Given the description of an element on the screen output the (x, y) to click on. 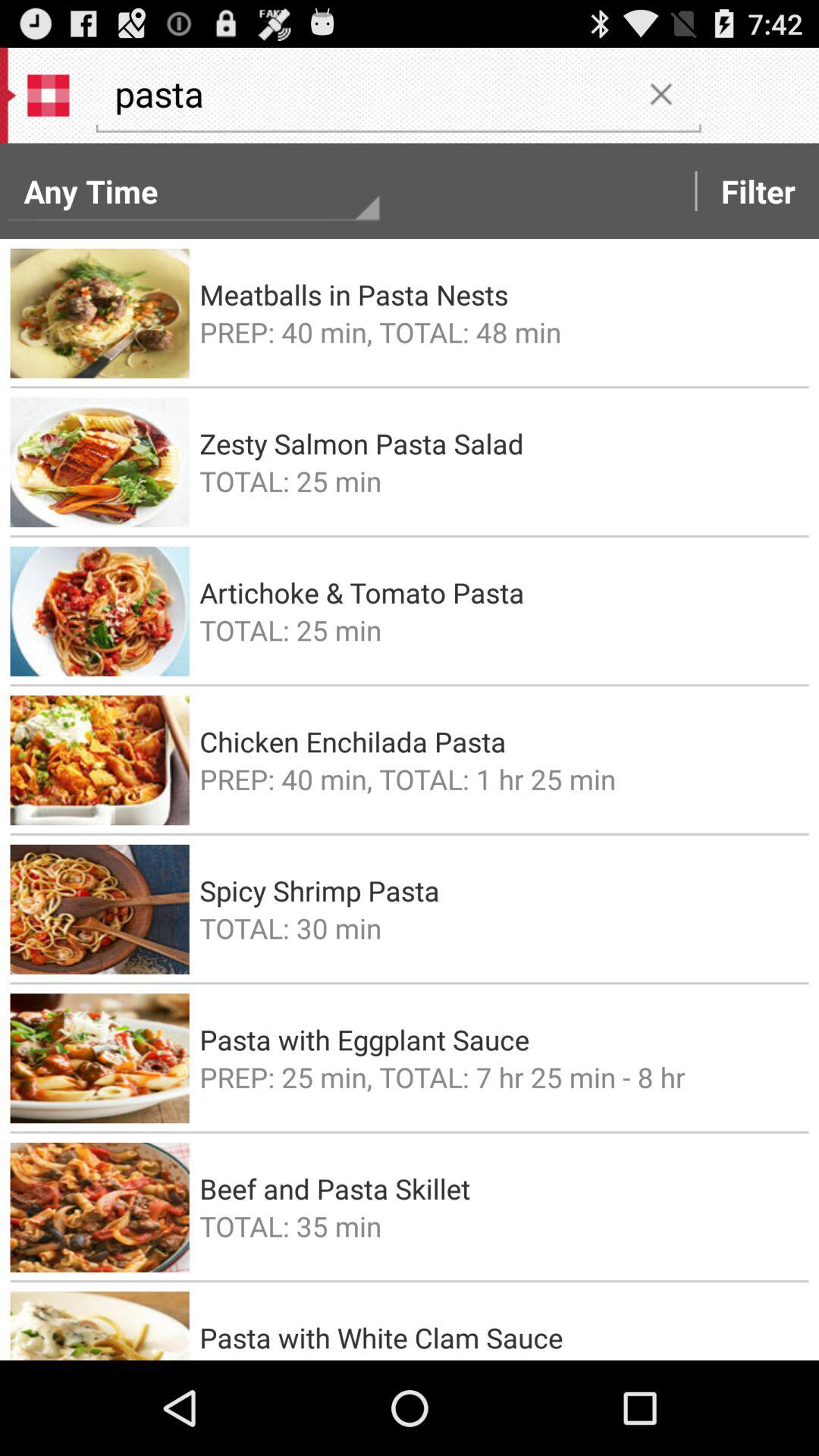
turn on the app above the meatballs in pasta icon (758, 190)
